Given the description of an element on the screen output the (x, y) to click on. 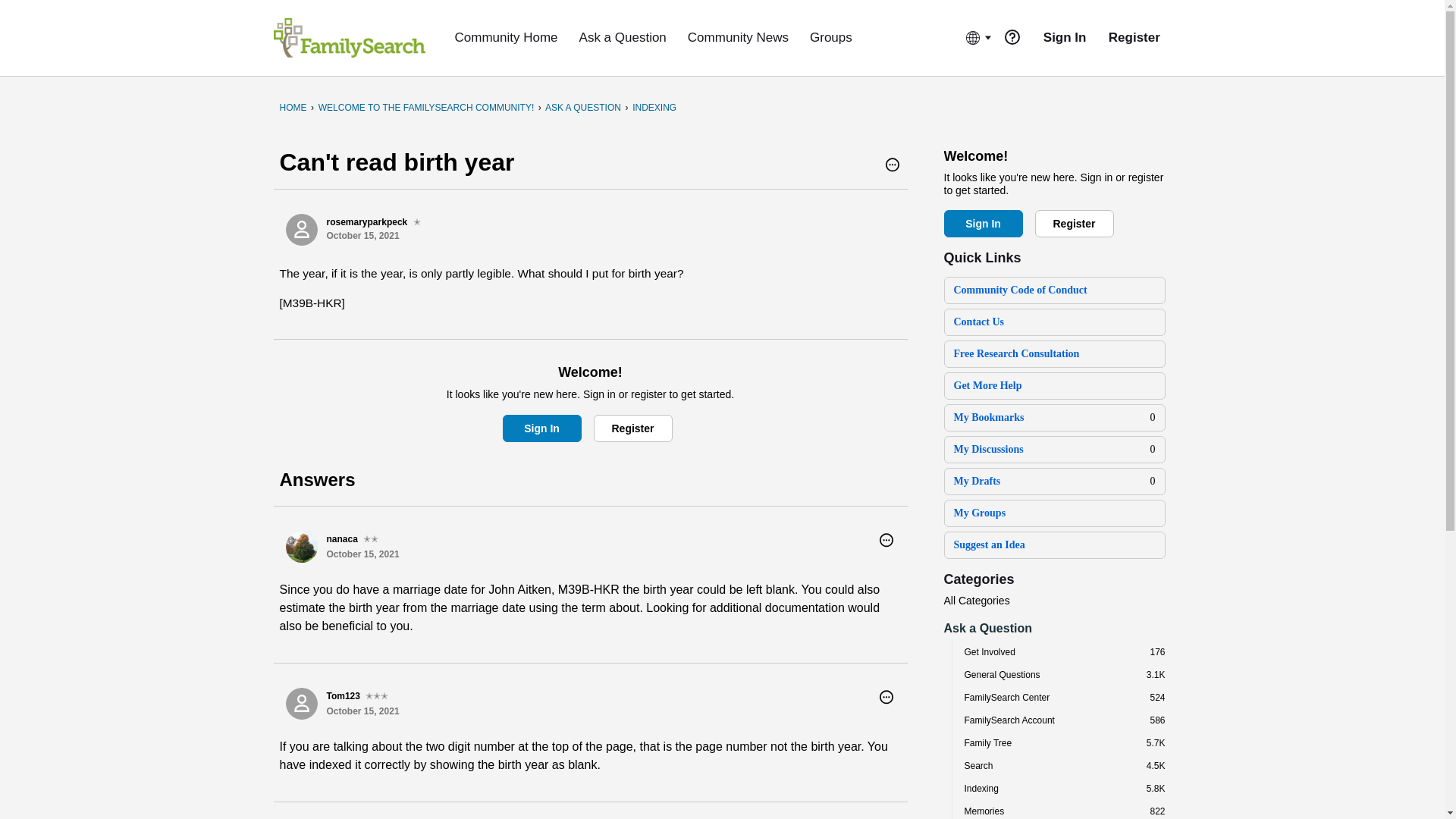
nanaca (301, 546)
Level 2 (370, 539)
October 15, 2021 7:05PM (362, 235)
October 15, 2021 7:16PM (362, 553)
Tom123 (301, 703)
Level 3 (376, 695)
Register (631, 428)
notice-question (1012, 36)
rosemaryparkpeck (301, 229)
Sign In (541, 428)
October 15, 2021 7:20PM (362, 710)
